Given the description of an element on the screen output the (x, y) to click on. 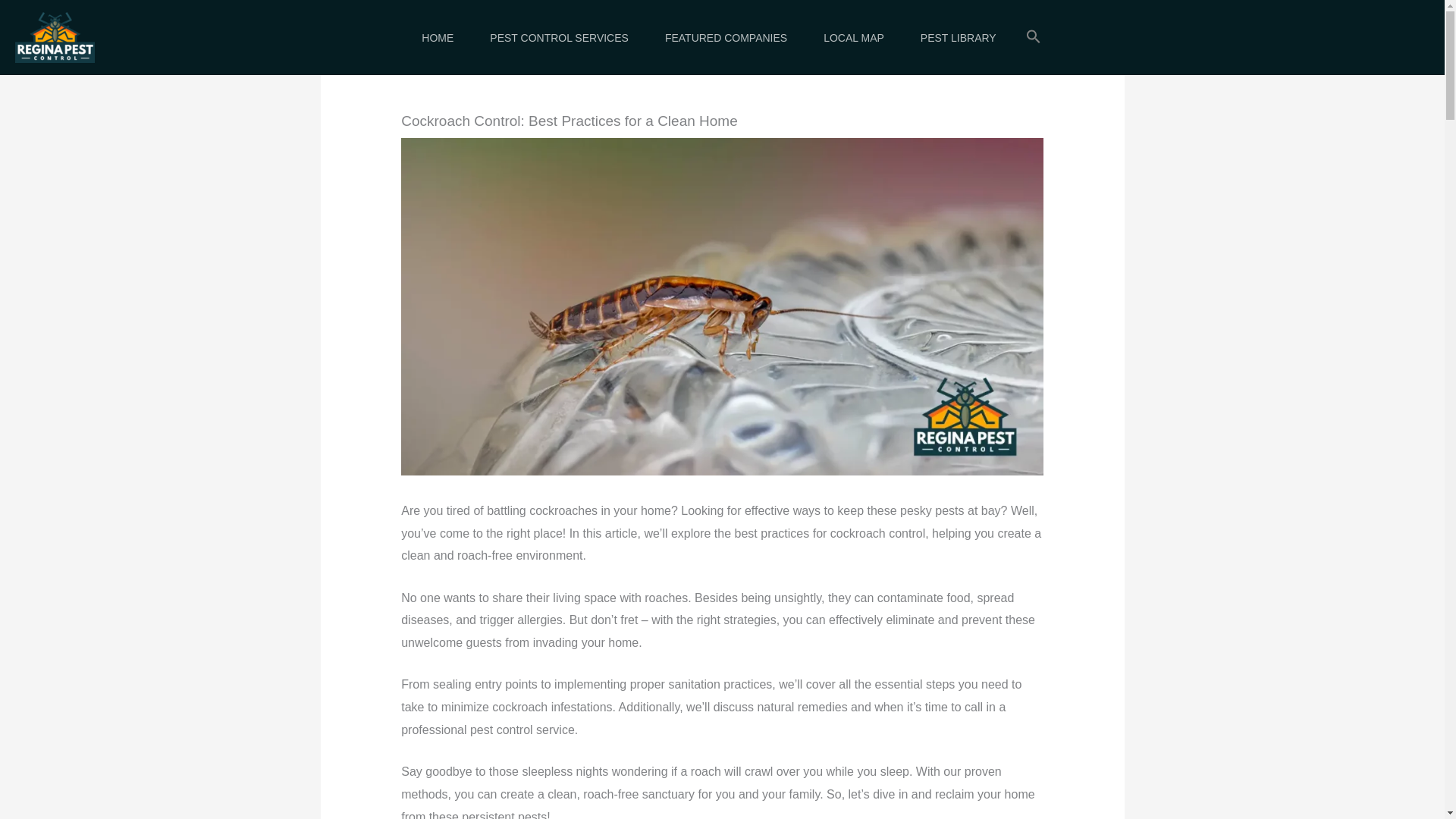
Pest Control Services (558, 37)
PEST LIBRARY (958, 37)
FEATURED COMPANIES (725, 37)
HOME (437, 37)
Featured Companies (725, 37)
PEST CONTROL SERVICES (558, 37)
LOCAL MAP (853, 37)
